Given the description of an element on the screen output the (x, y) to click on. 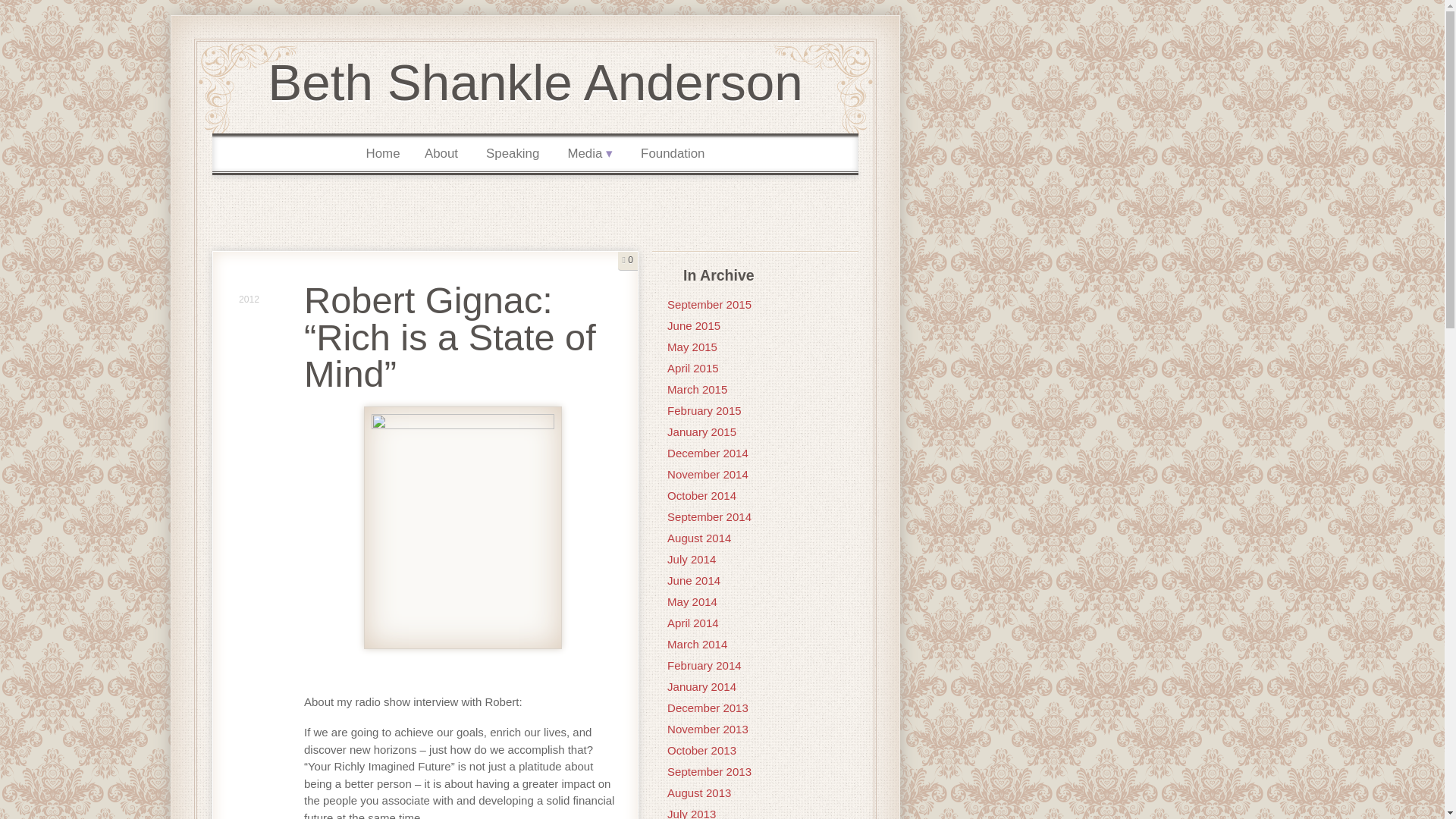
Speaking (512, 154)
Beth Shankle Anderson (535, 82)
April 2015 (692, 367)
April 2014 (692, 622)
December 2014 (707, 452)
January 2015 (701, 431)
September 2014 (708, 516)
November 2014 (707, 473)
October 2014 (701, 495)
March 2015 (696, 389)
